Given the description of an element on the screen output the (x, y) to click on. 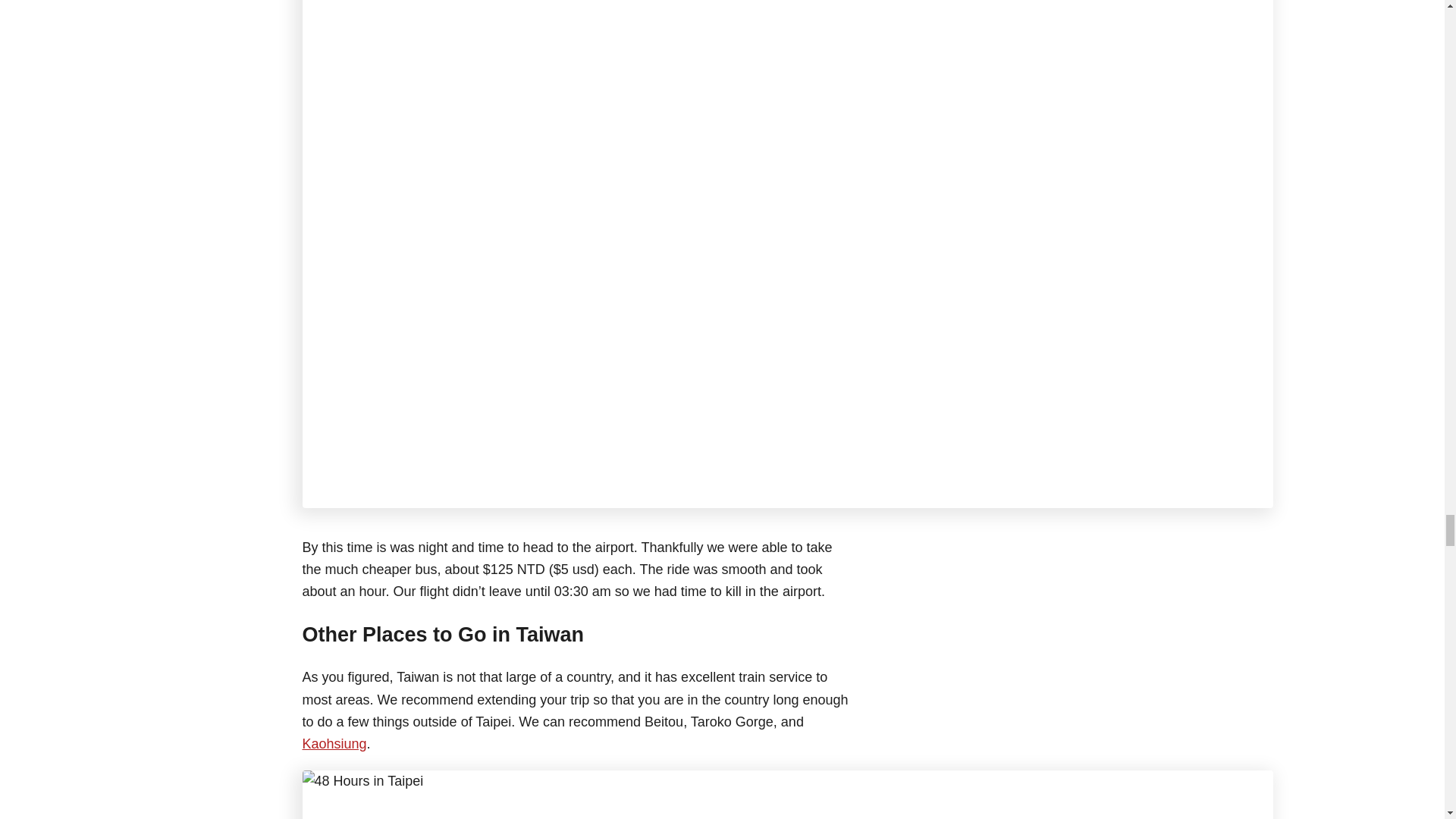
Kaohsiung (333, 743)
